Given the description of an element on the screen output the (x, y) to click on. 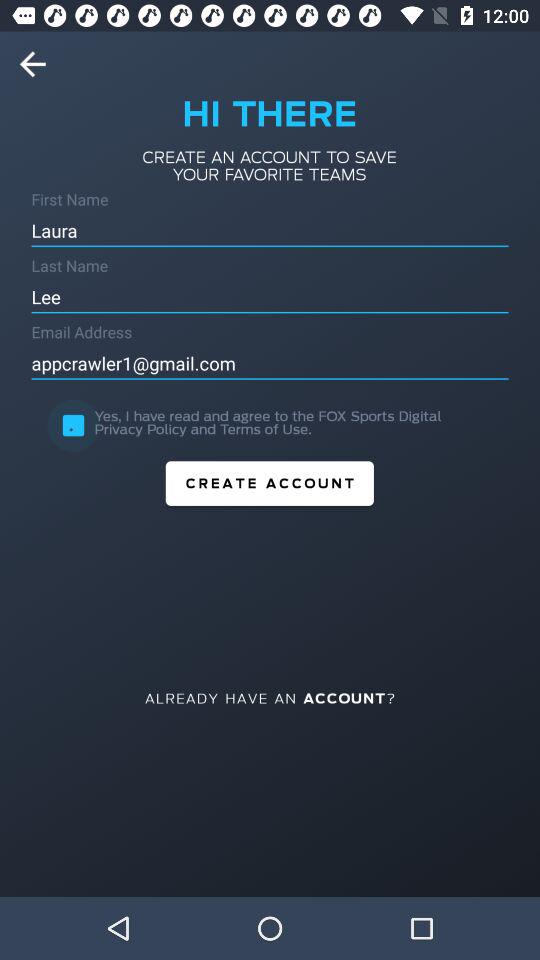
go back (39, 64)
